Given the description of an element on the screen output the (x, y) to click on. 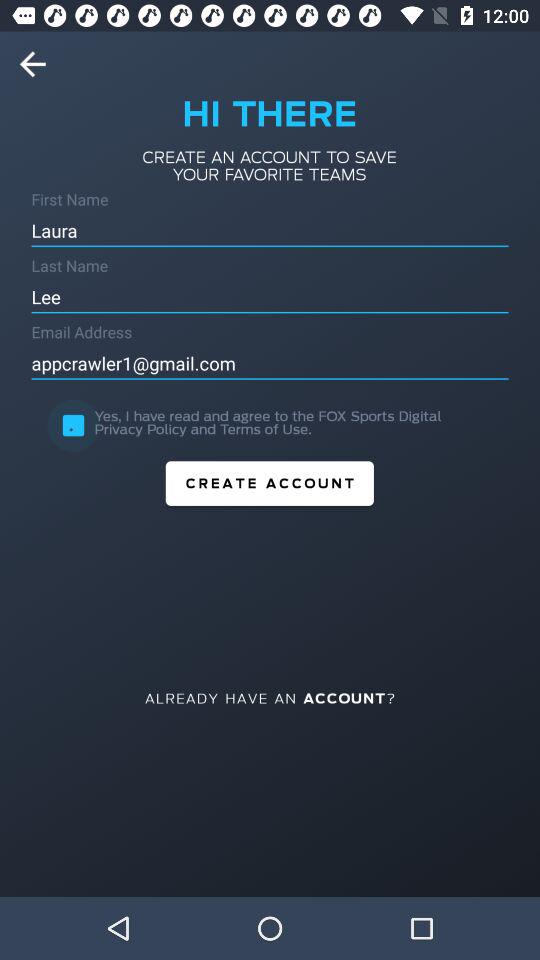
go back (39, 64)
